Given the description of an element on the screen output the (x, y) to click on. 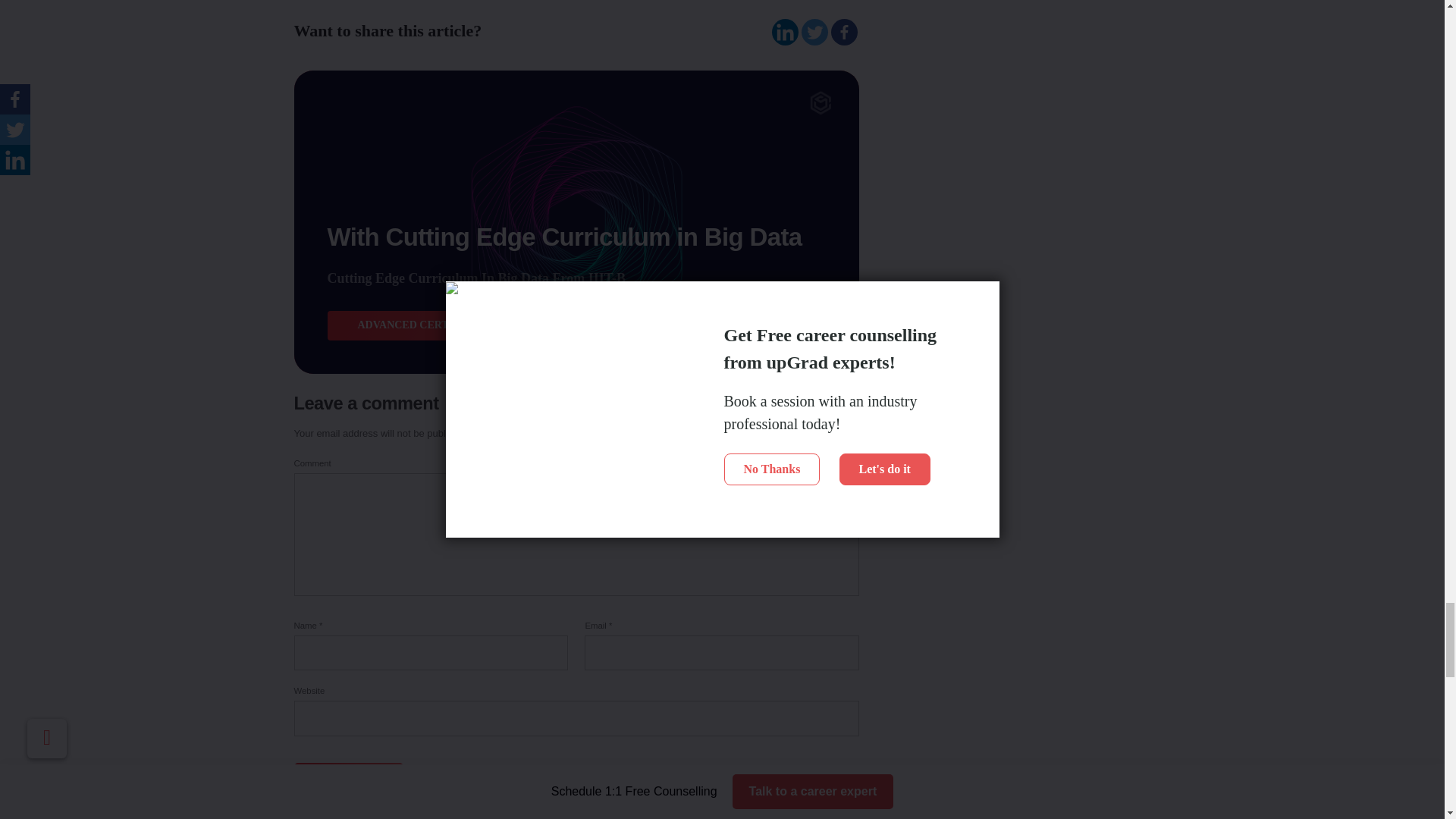
Post Comment (348, 781)
